Given the description of an element on the screen output the (x, y) to click on. 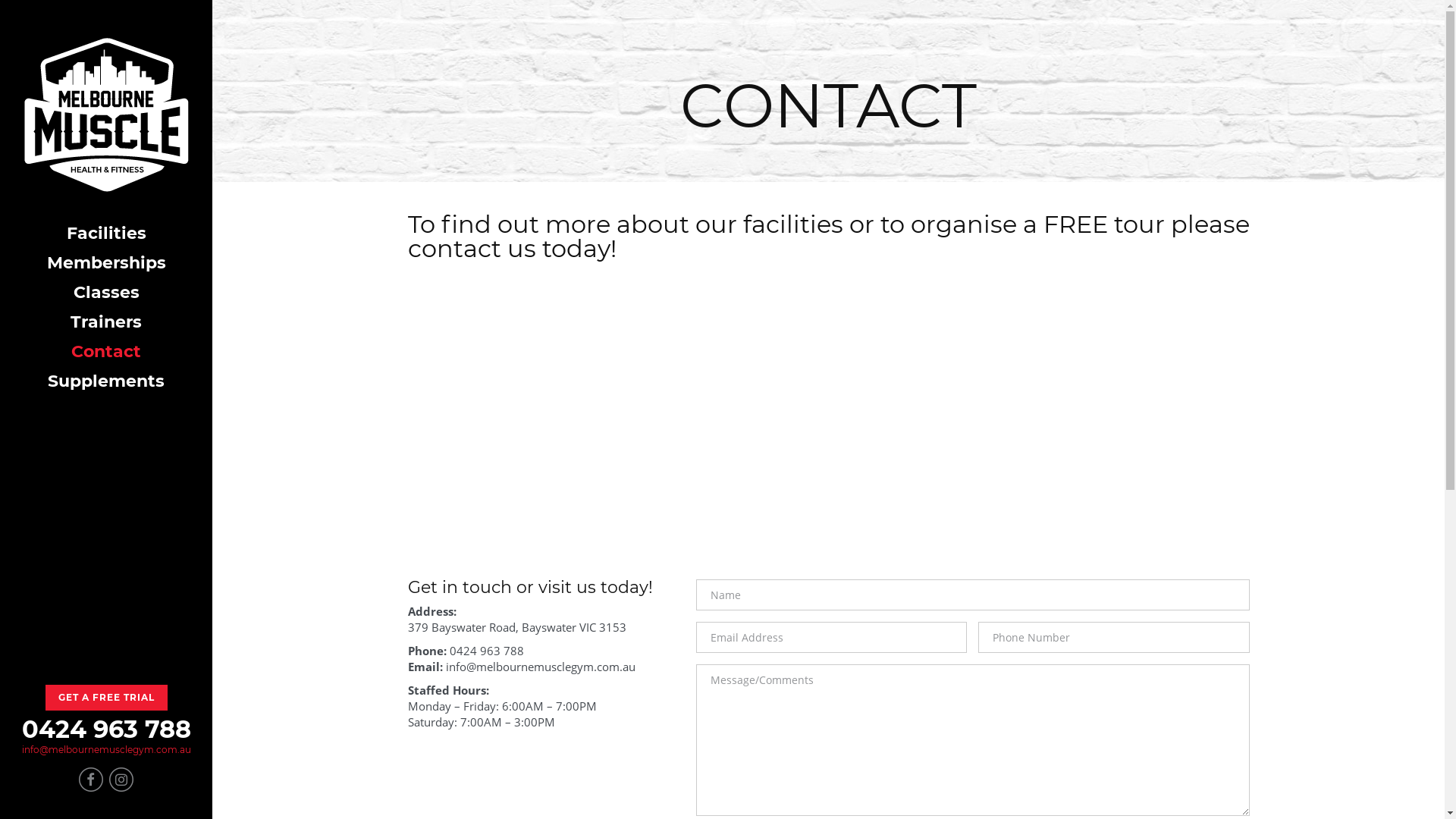
Memberships Element type: text (105, 262)
0424 963 788 Element type: text (105, 728)
Facilities Element type: text (105, 232)
Contact Element type: text (105, 351)
info@melbournemusclegym.com.au Element type: text (105, 749)
Supplements Element type: text (105, 380)
Classes Element type: text (105, 292)
Trainers Element type: text (105, 321)
GET A FREE TRIAL Element type: text (106, 697)
